Given the description of an element on the screen output the (x, y) to click on. 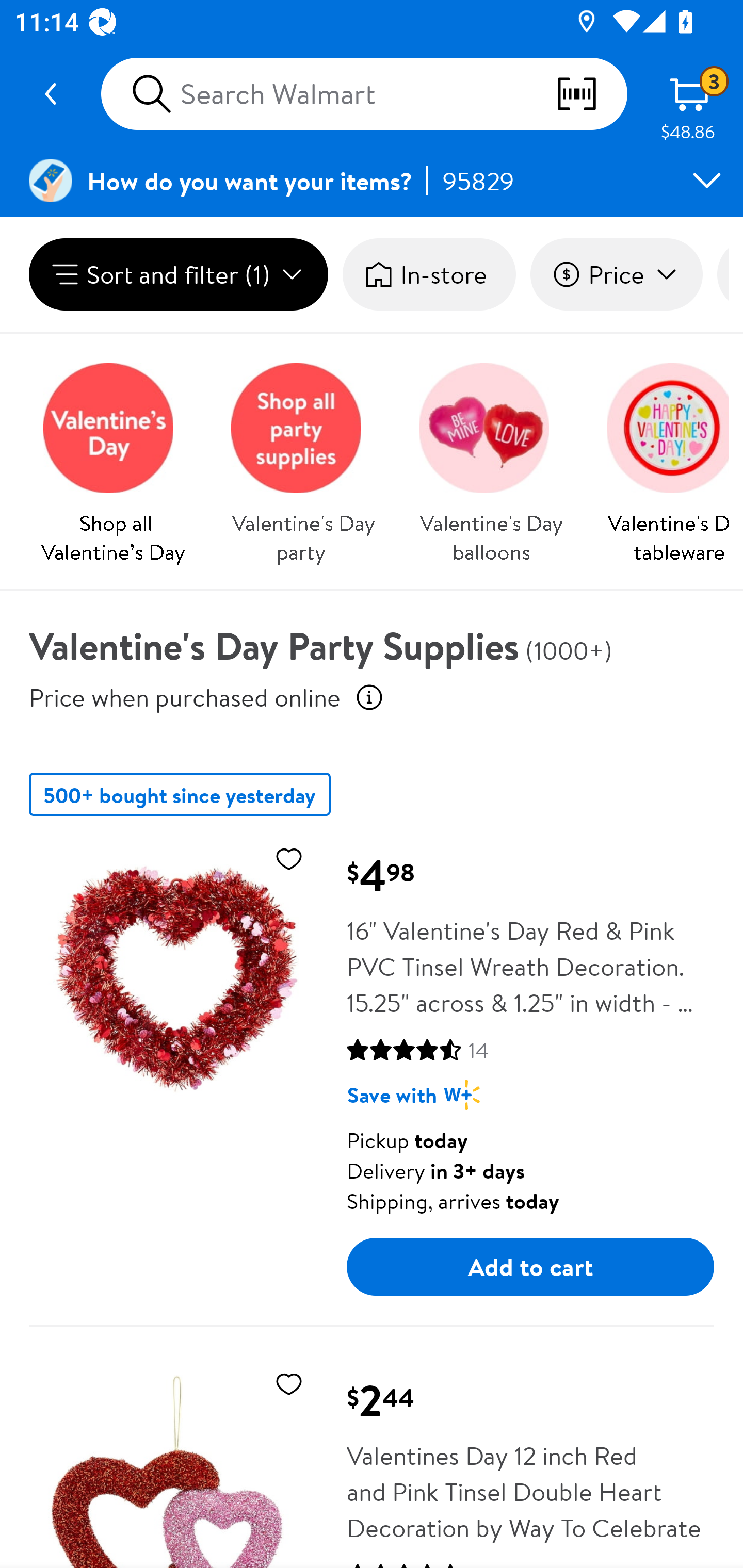
Navigate up (50, 93)
Search Walmart scan barcodes qr codes and more (364, 94)
scan barcodes qr codes and more (591, 94)
Price when purchased online (184, 696)
Price when purchased online (369, 697)
Add to cart (530, 1266)
